Given the description of an element on the screen output the (x, y) to click on. 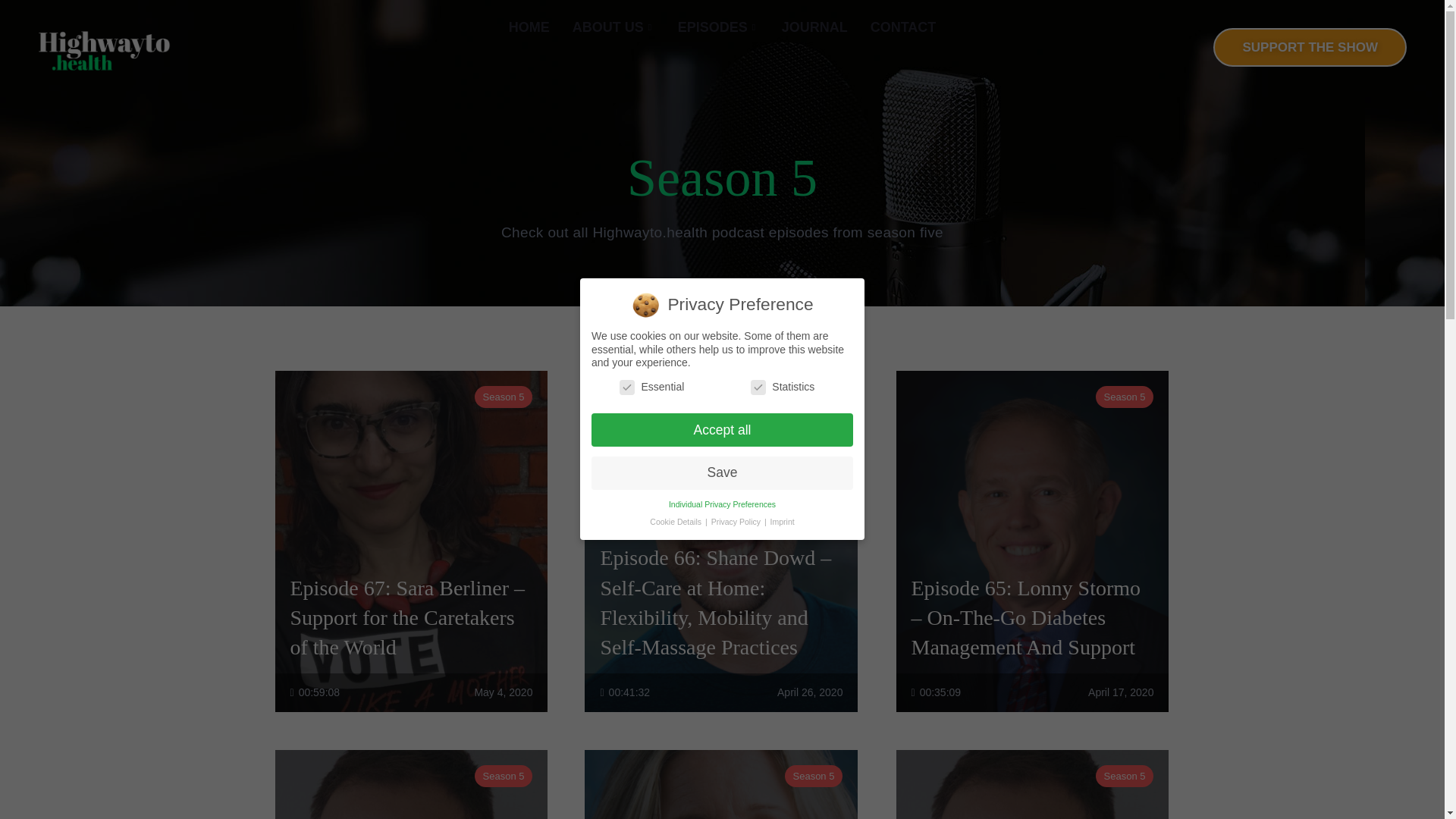
CONTACT (903, 27)
Please support highwayto.health (1309, 46)
Highwayto.health Podcast (103, 49)
HOME (528, 27)
JOURNAL (814, 27)
Get on touch with the highwayto.health community (903, 27)
EPISODES (718, 27)
Check out all the highwayto.health podcast episodes (718, 27)
Find out more about us (613, 27)
SUPPORT THE SHOW (1309, 46)
ABOUT US (613, 27)
Latest news from the highwayto.health community (814, 27)
